Given the description of an element on the screen output the (x, y) to click on. 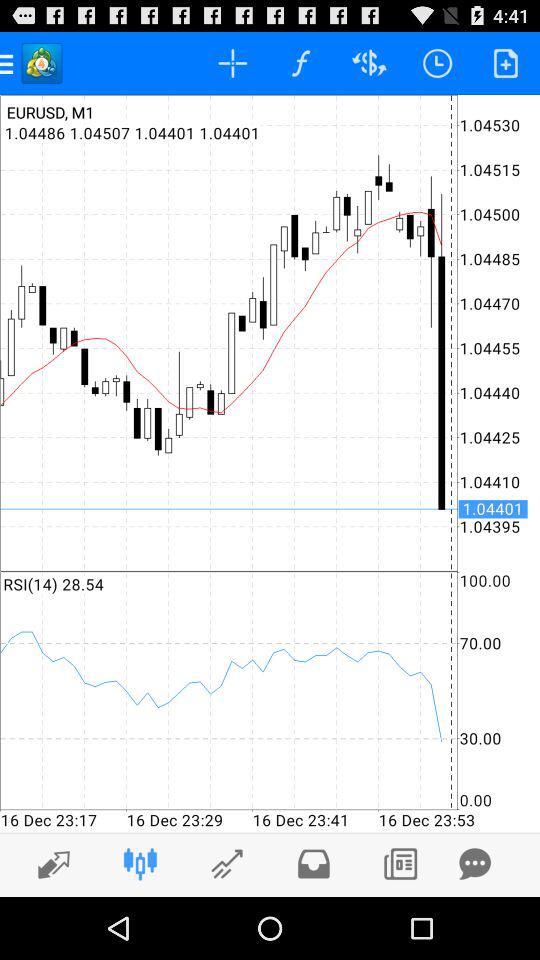
copy icon (400, 863)
